Given the description of an element on the screen output the (x, y) to click on. 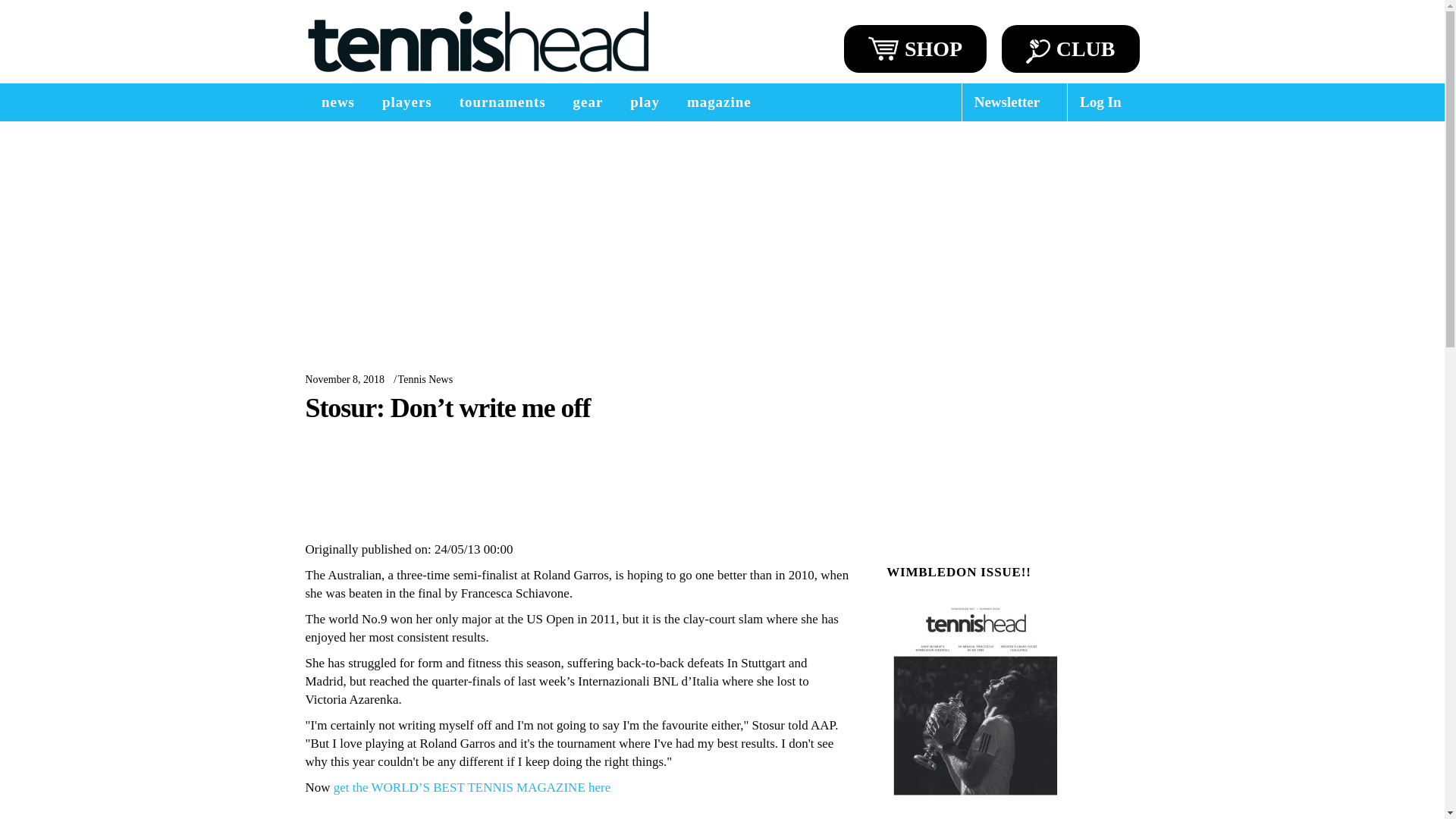
news (337, 102)
players (406, 102)
CLUB (1070, 48)
SHOP (915, 48)
tournaments (502, 102)
play (643, 102)
gear (588, 102)
